Given the description of an element on the screen output the (x, y) to click on. 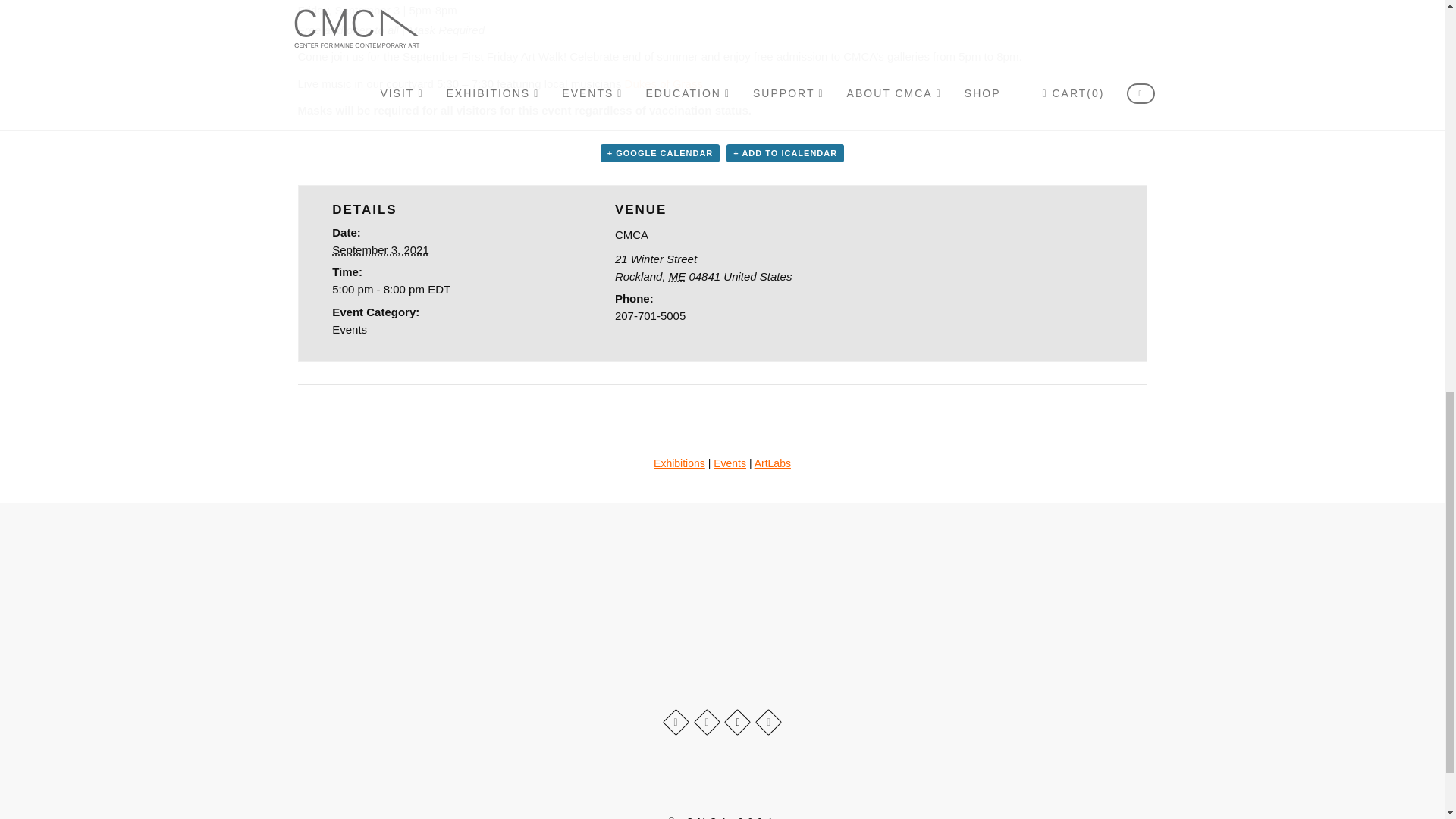
Add to Google Calendar (659, 153)
Download .ics file (785, 153)
2021-09-03 (439, 289)
Maine (676, 276)
2021-09-03 (380, 249)
